Given the description of an element on the screen output the (x, y) to click on. 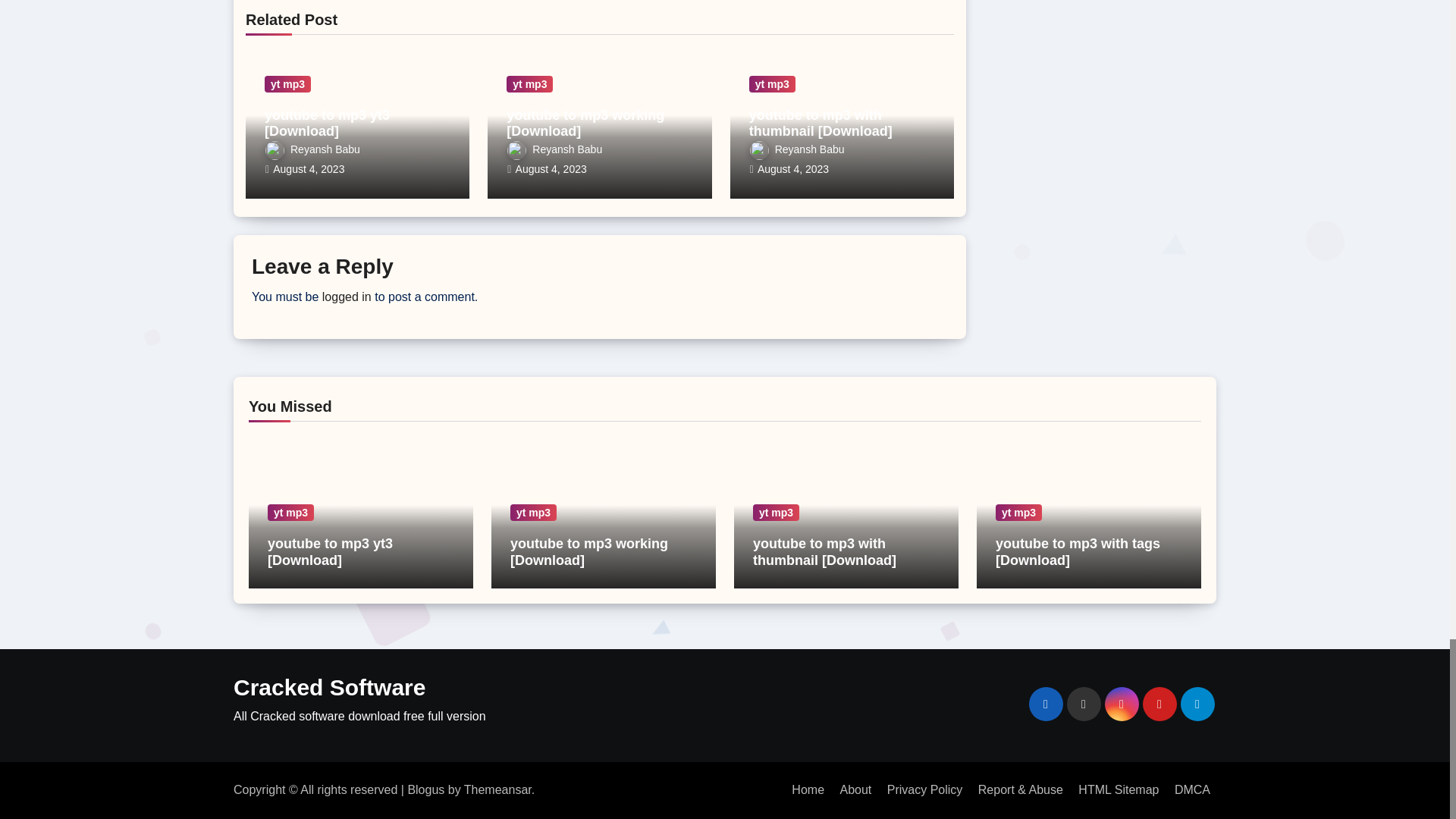
HTML Sitemap (1117, 789)
Privacy Policy (924, 789)
Home (807, 789)
About (855, 789)
